Given the description of an element on the screen output the (x, y) to click on. 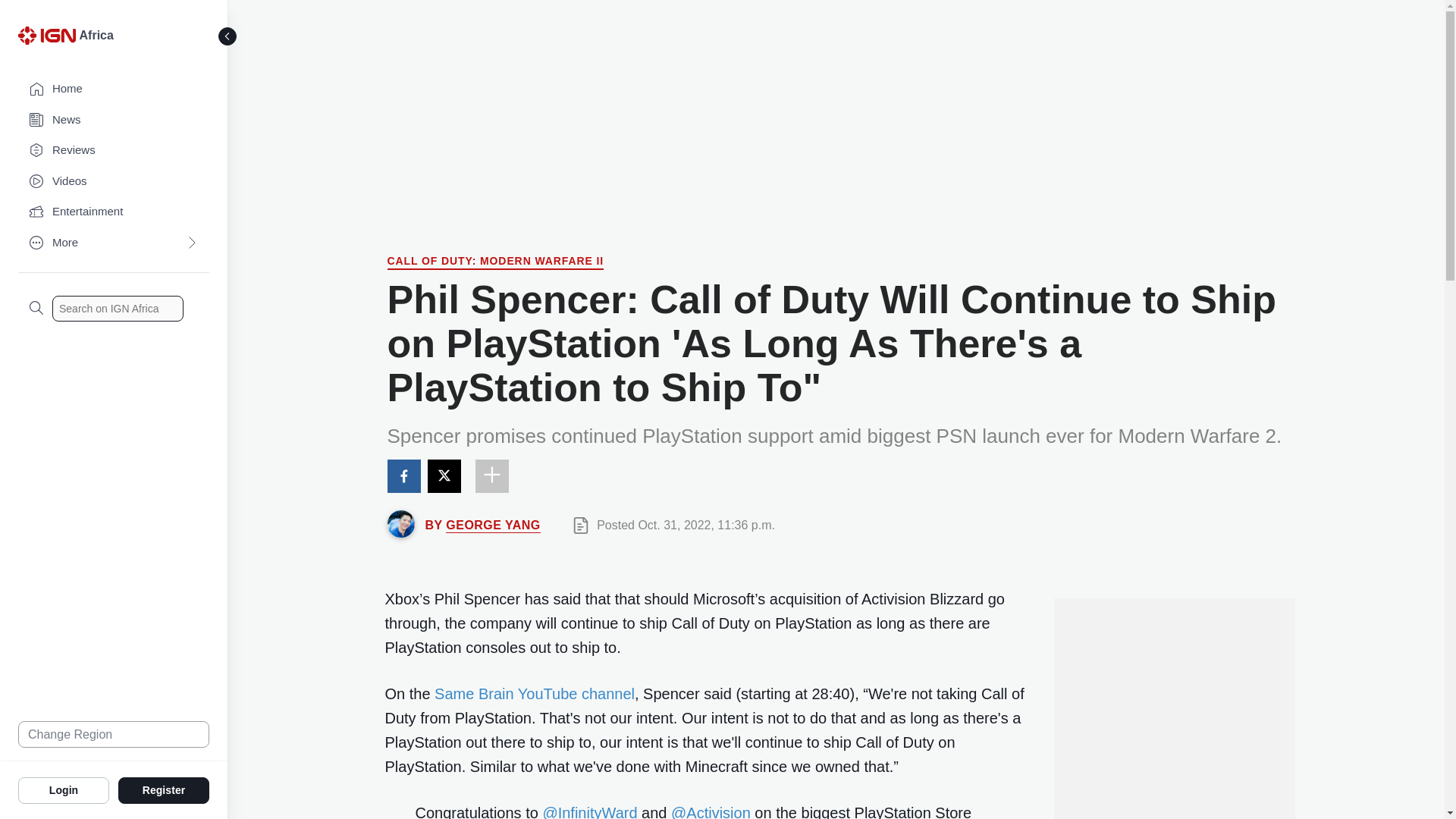
Same Brain YouTube channel (532, 693)
Entertainment (113, 211)
Home (113, 89)
Register (163, 789)
Reviews (113, 150)
More (113, 242)
IGN Logo (46, 34)
GEORGE YANG (492, 524)
News (113, 119)
Call of Duty: Modern Warfare II (495, 262)
Login (63, 789)
Toggle Sidebar (226, 36)
CALL OF DUTY: MODERN WARFARE II (495, 262)
IGN Logo (48, 39)
Videos (113, 181)
